Given the description of an element on the screen output the (x, y) to click on. 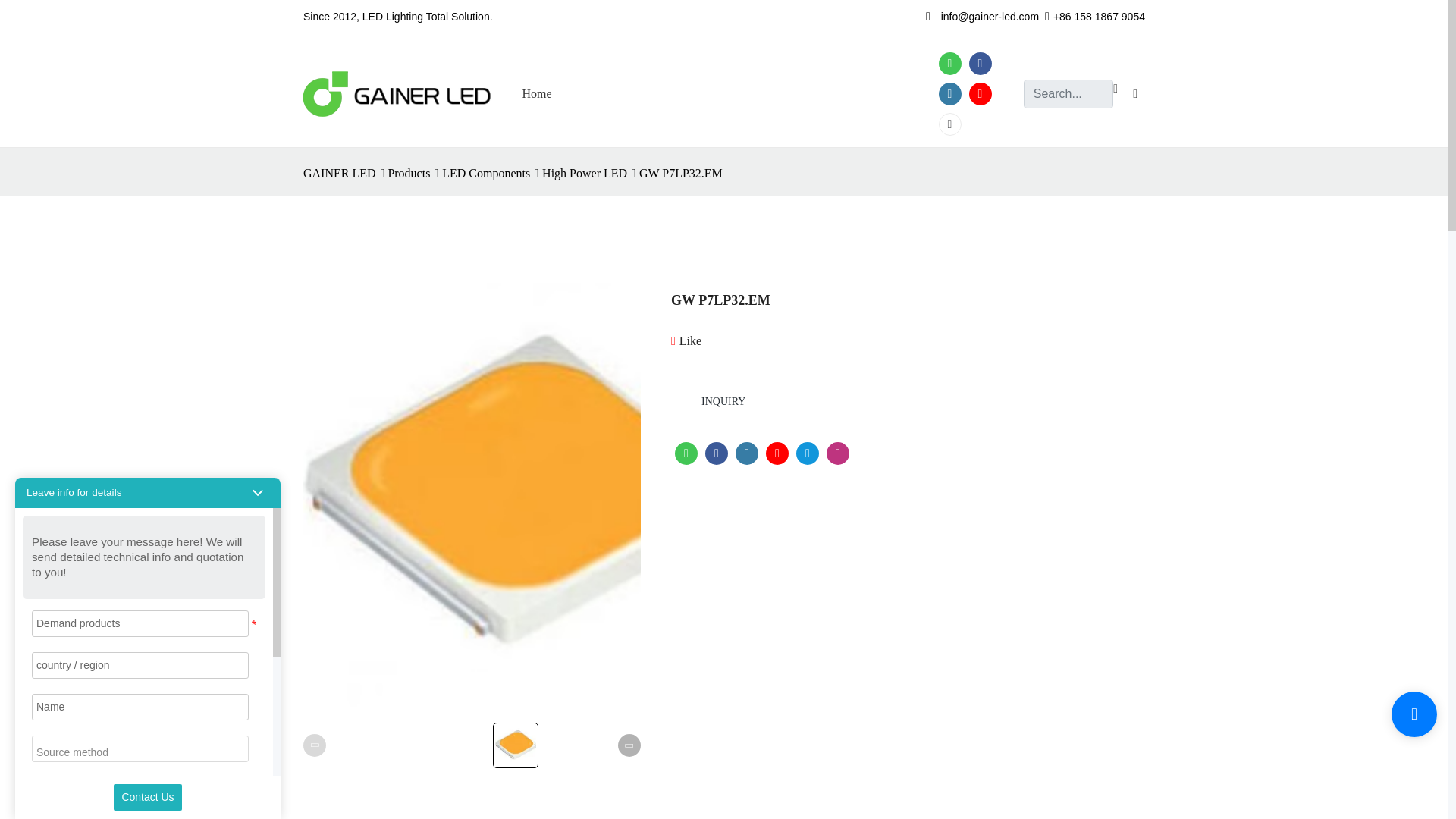
Leave info for details (73, 492)
